Given the description of an element on the screen output the (x, y) to click on. 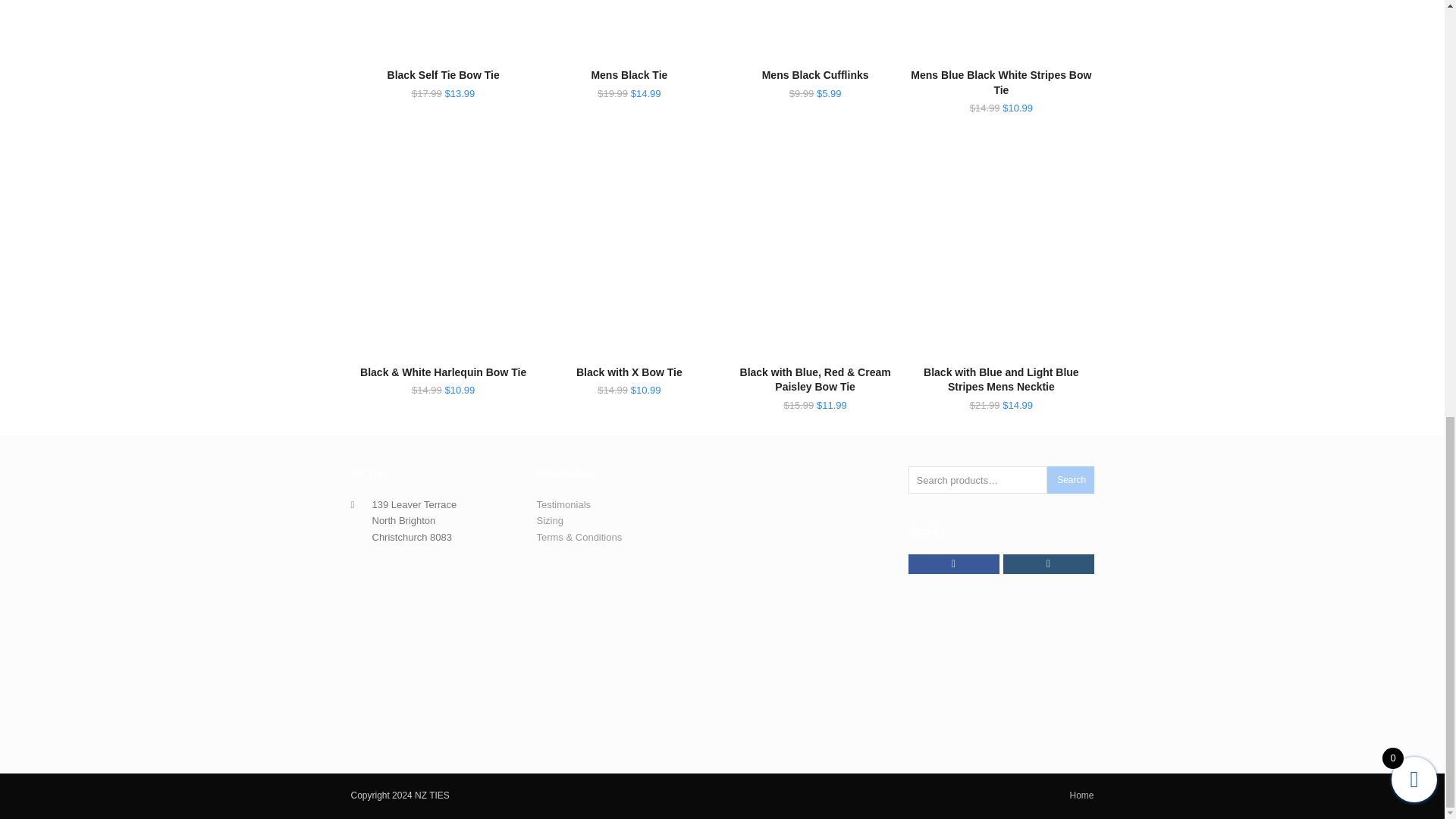
Testimonials (564, 504)
Facebook (953, 564)
Instagram (1048, 564)
Sizing Information (550, 520)
